Given the description of an element on the screen output the (x, y) to click on. 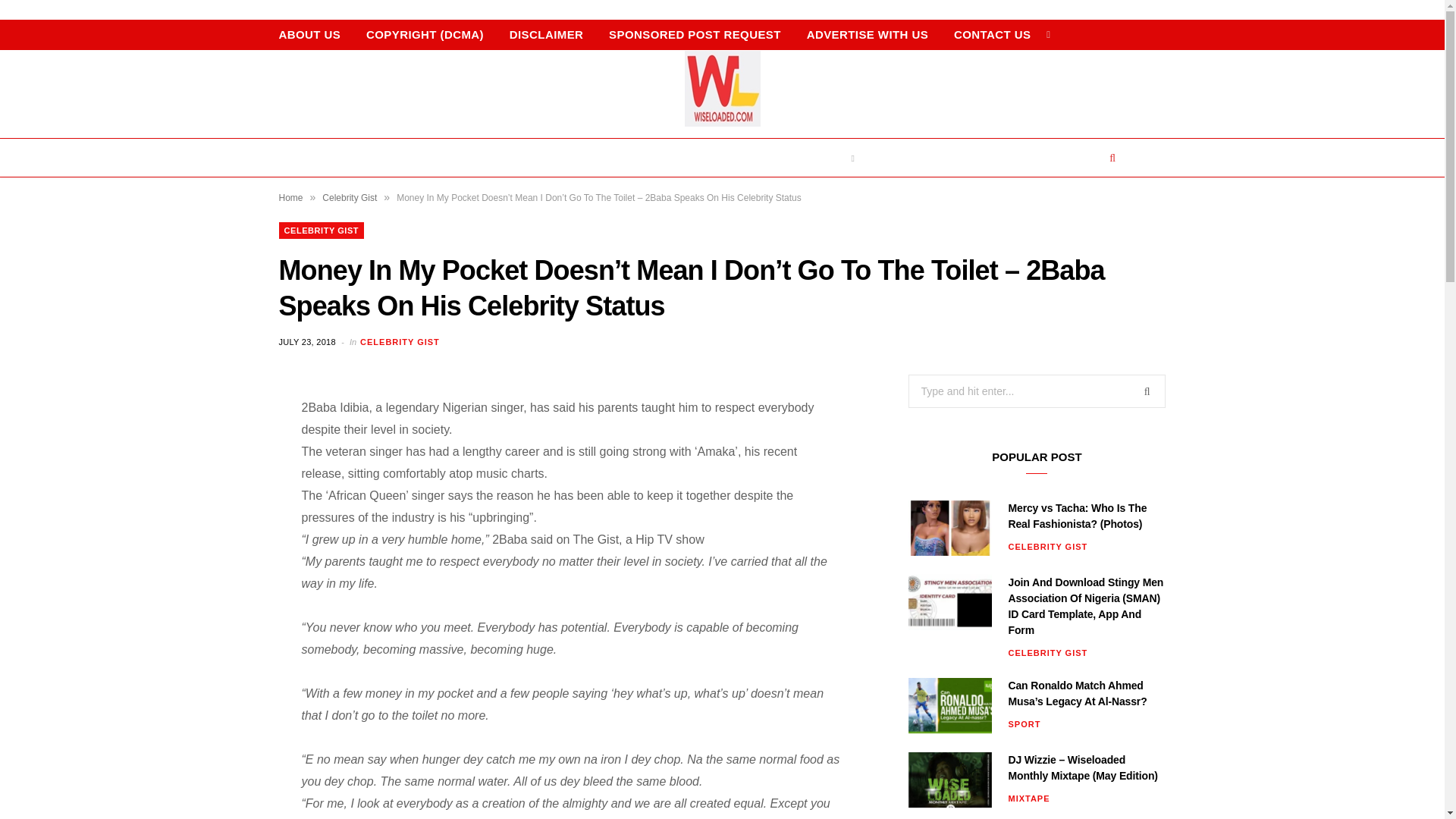
JULY 23, 2018 (309, 341)
ADVERTISE WITH US (866, 34)
DISCLAIMER (546, 34)
CELEBRITY GIST (399, 341)
Celebrity Gist (349, 197)
CONTACT US (992, 34)
EDITORIALS (427, 157)
Home (290, 197)
CELEBRITY GIST (546, 157)
CELEBRITY GIST (322, 230)
SPONSORED POST REQUEST (694, 34)
ABOUT US (309, 34)
Wiseloaded (722, 88)
MUSIC (830, 157)
MOVIES (1066, 157)
